Given the description of an element on the screen output the (x, y) to click on. 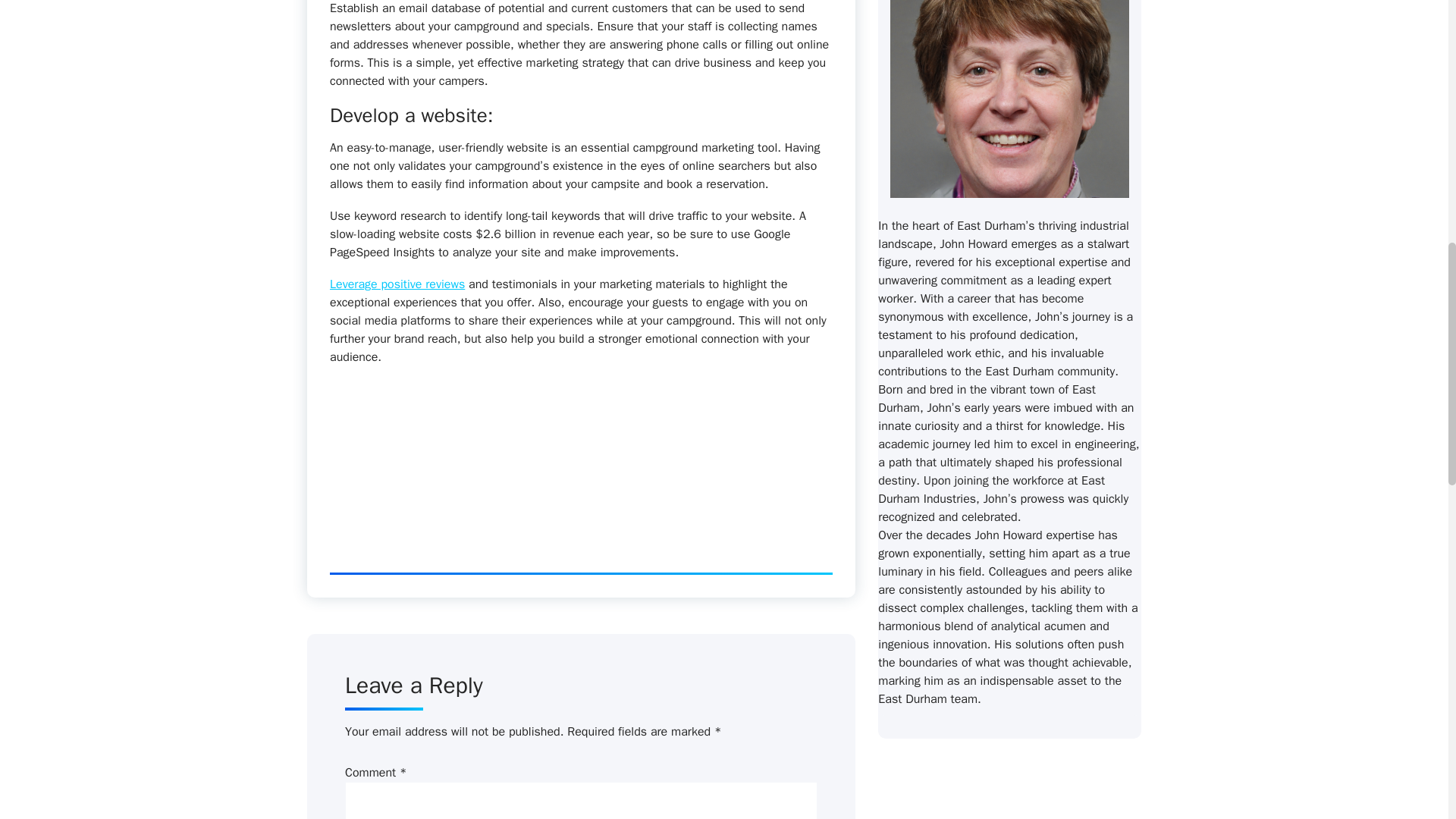
Leverage positive reviews (397, 283)
